Given the description of an element on the screen output the (x, y) to click on. 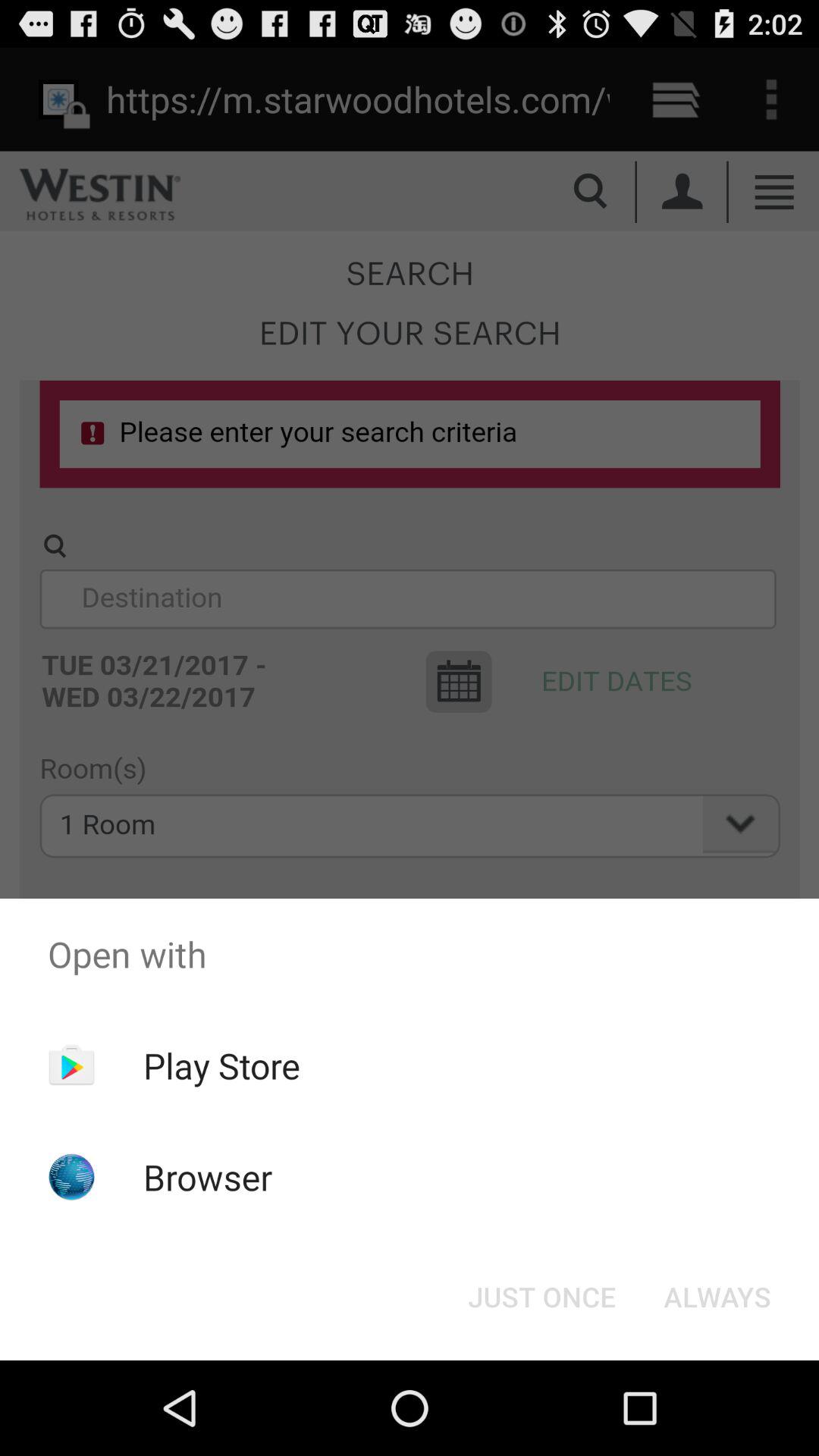
select the play store (221, 1065)
